Given the description of an element on the screen output the (x, y) to click on. 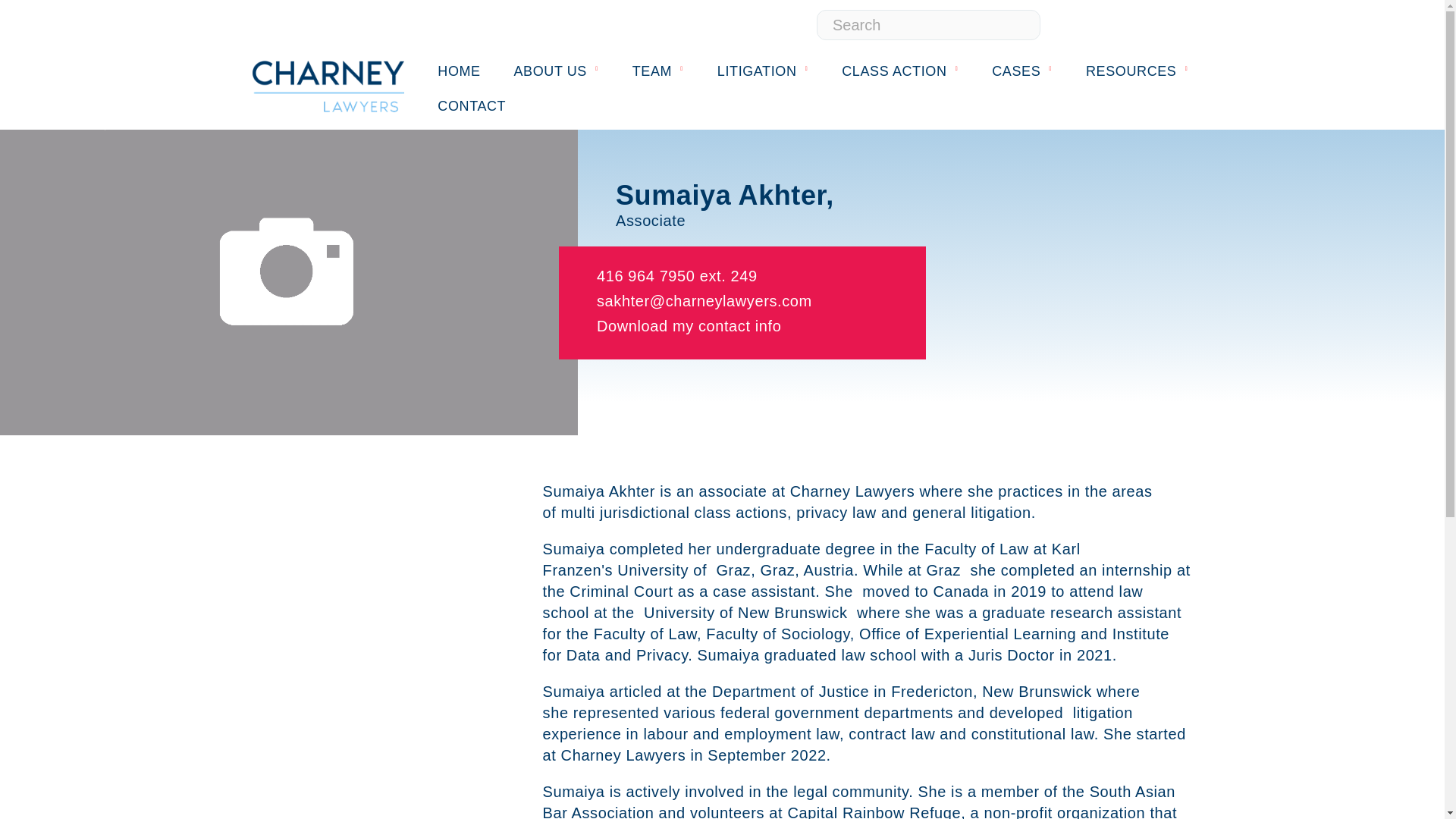
Email now (704, 300)
Call now (676, 275)
Charney logo (327, 86)
Search input (928, 24)
